Given the description of an element on the screen output the (x, y) to click on. 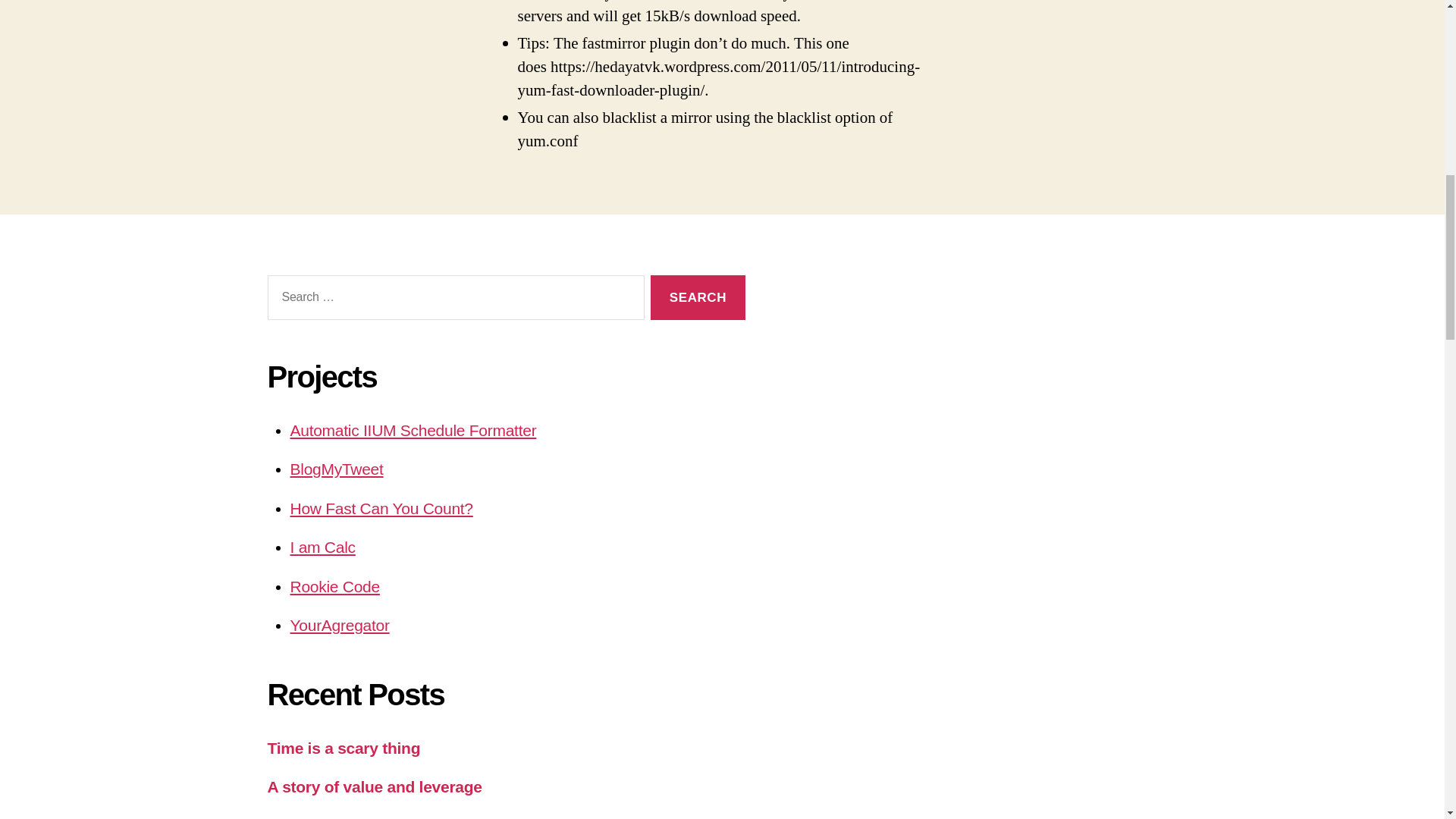
Rookie Code (333, 586)
BlogMyTweet (335, 468)
Search (697, 297)
A website that will blog your tweet. (335, 468)
I am Calc (322, 547)
This is basically my first facebook app. (380, 507)
Time is a scary thing (343, 747)
A story of value and leverage (373, 786)
